Given the description of an element on the screen output the (x, y) to click on. 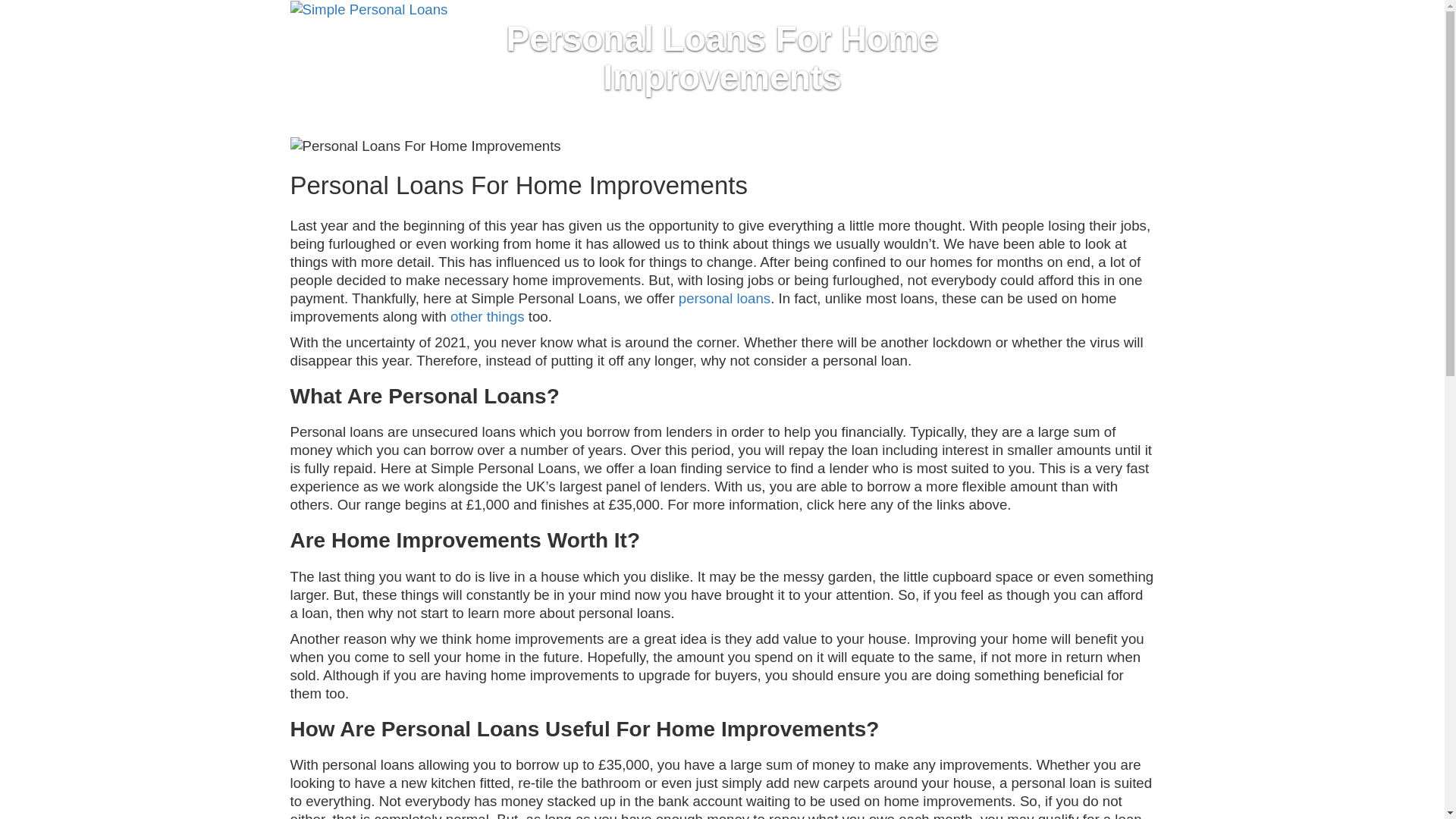
other things (486, 316)
personal loans (724, 298)
